Given the description of an element on the screen output the (x, y) to click on. 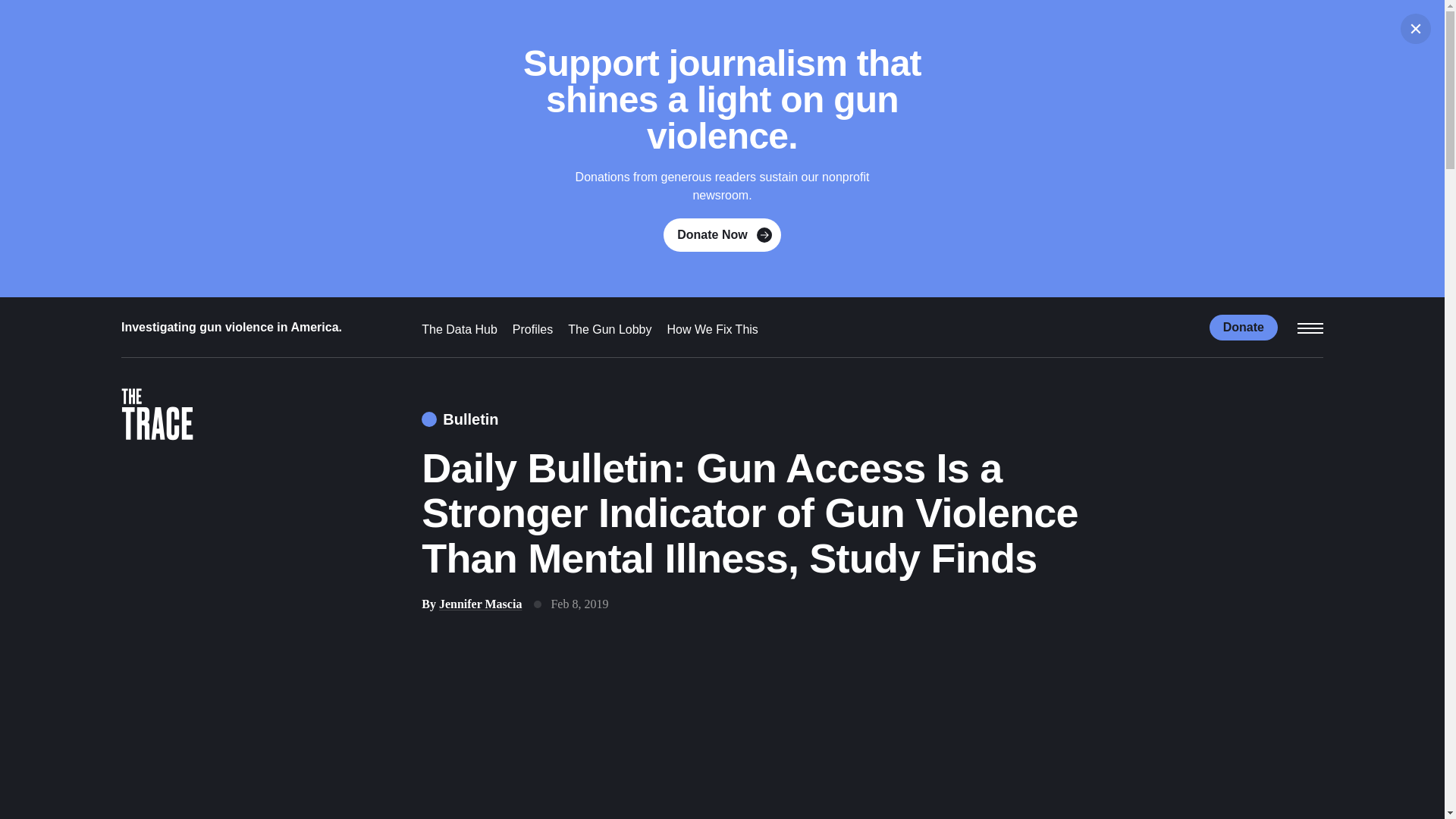
The Trace (156, 417)
Close (1415, 28)
Donate (1243, 326)
The Data Hub (459, 328)
Donate Now (721, 234)
Jennifer Mascia (480, 603)
How We Fix This (712, 328)
Bulletin (459, 419)
Profiles (532, 328)
The Gun Lobby (608, 328)
